Given the description of an element on the screen output the (x, y) to click on. 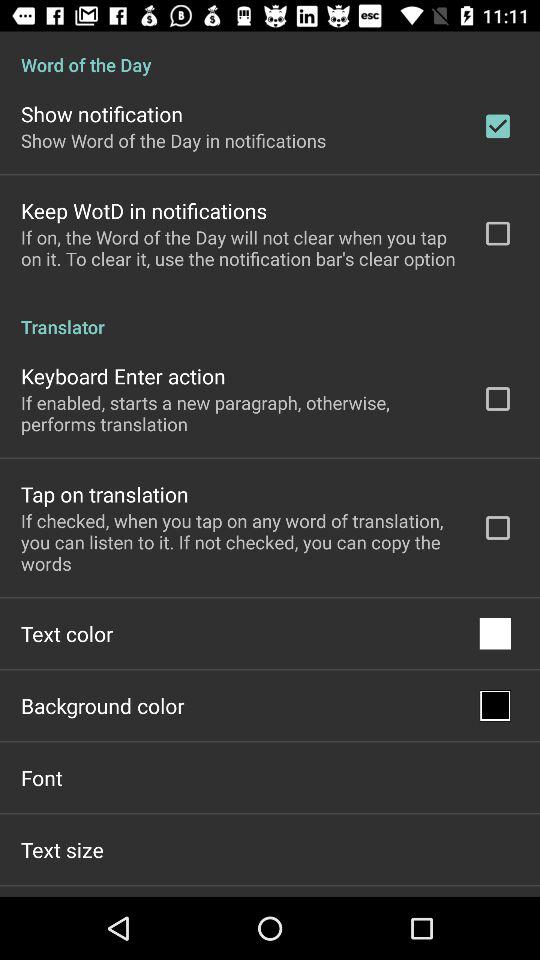
turn off the icon below text color icon (102, 705)
